Given the description of an element on the screen output the (x, y) to click on. 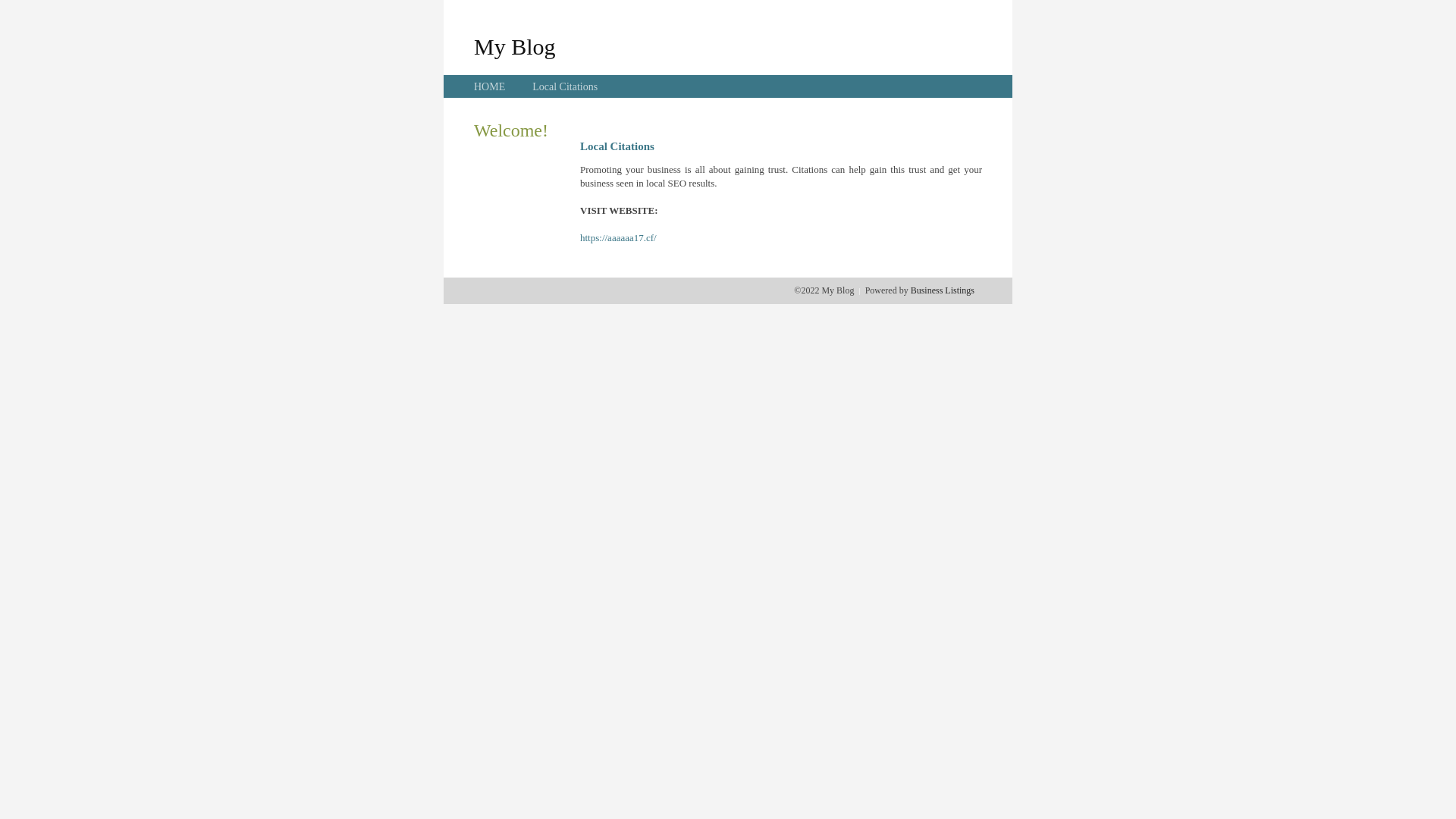
Business Listings Element type: text (942, 290)
HOME Element type: text (489, 86)
Local Citations Element type: text (564, 86)
My Blog Element type: text (514, 46)
https://aaaaaa17.cf/ Element type: text (618, 237)
